Given the description of an element on the screen output the (x, y) to click on. 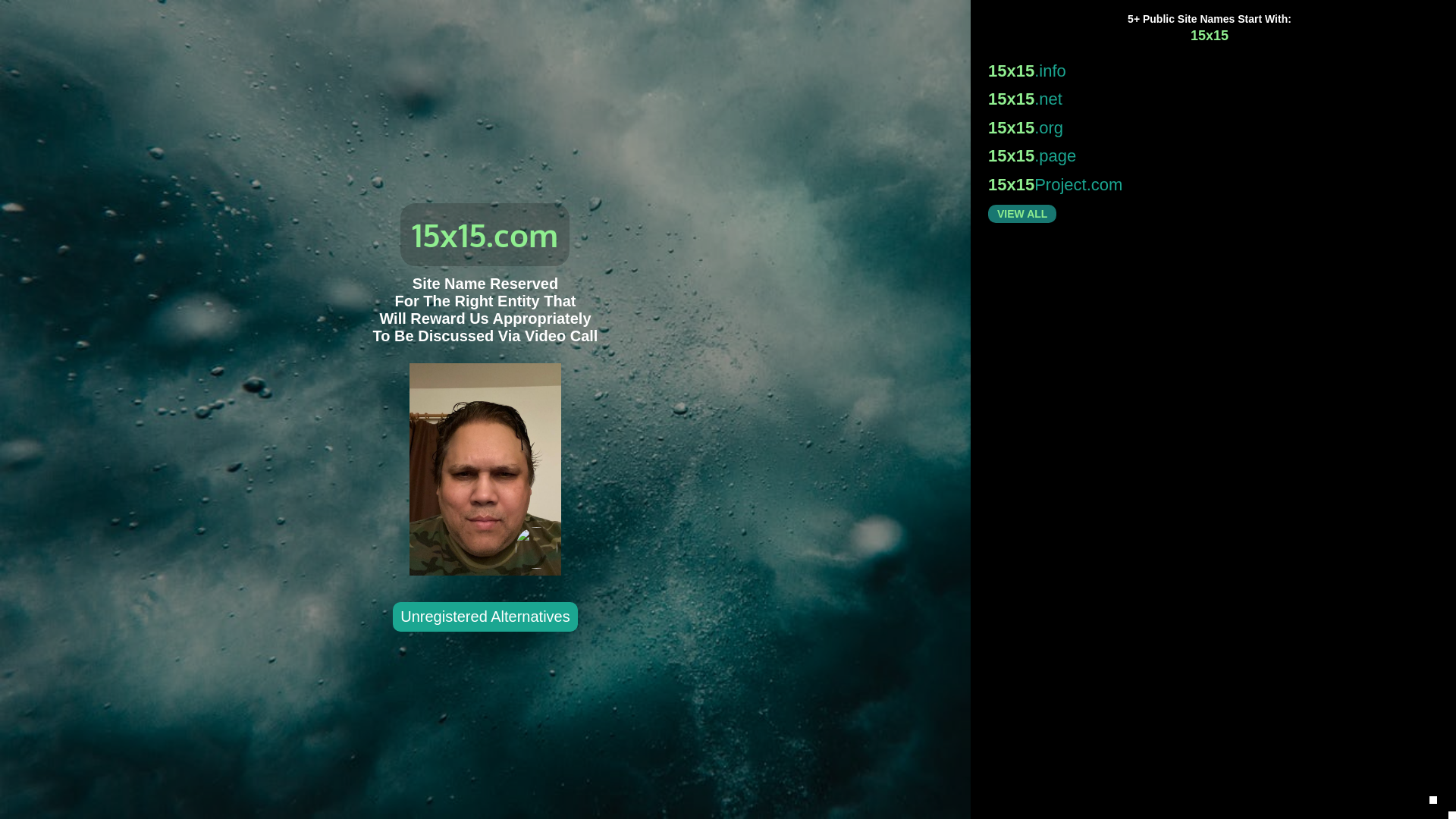
15x15.net Element type: text (1205, 98)
15x15Project.com Element type: text (1205, 184)
15x15.org Element type: text (1205, 127)
15x15.info Element type: text (1205, 70)
Unregistered Alternatives Element type: text (484, 617)
5+ Public Site Names Start With:
15x15 Element type: text (1209, 27)
15x15.page Element type: text (1205, 155)
